Given the description of an element on the screen output the (x, y) to click on. 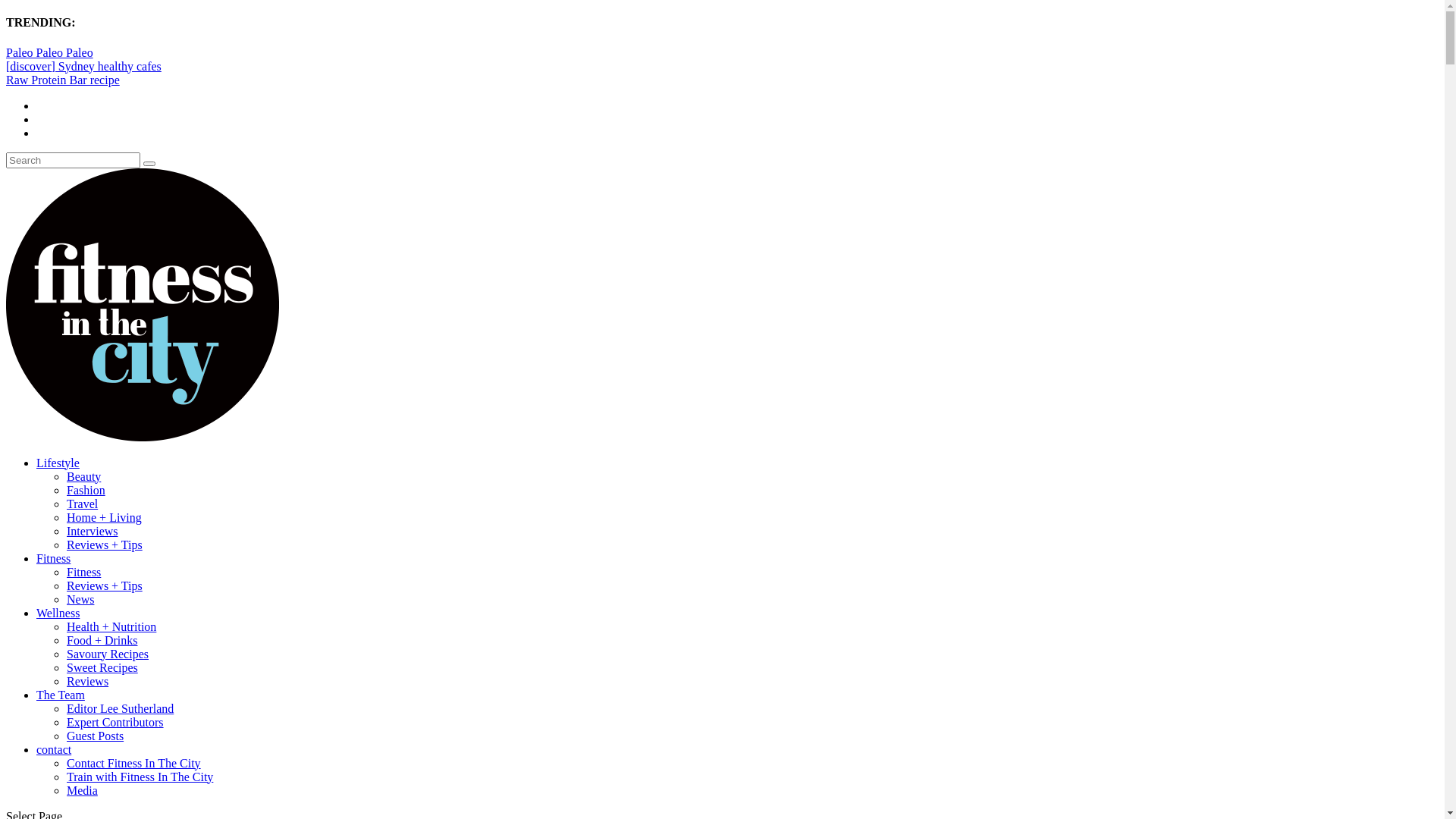
Train with Fitness In The City Element type: text (139, 776)
Contact Fitness In The City Element type: text (133, 762)
Media Element type: text (81, 790)
News Element type: text (80, 599)
Home + Living Element type: text (103, 517)
Wellness Element type: text (57, 612)
Reviews + Tips Element type: text (104, 544)
Search for: Element type: hover (73, 160)
Raw Protein Bar recipe Element type: text (62, 79)
Food + Drinks Element type: text (101, 639)
contact Element type: text (53, 749)
Fitness Element type: text (53, 558)
The Team Element type: text (60, 694)
Lifestyle Element type: text (57, 462)
[discover] Sydney healthy cafes Element type: text (83, 65)
Beauty Element type: text (83, 476)
Interviews Element type: text (92, 530)
Expert Contributors Element type: text (114, 721)
Sweet Recipes Element type: text (102, 667)
Savoury Recipes Element type: text (107, 653)
Health + Nutrition Element type: text (111, 626)
Editor Lee Sutherland Element type: text (119, 708)
Travel Element type: text (81, 503)
Reviews + Tips Element type: text (104, 585)
Guest Posts Element type: text (94, 735)
Reviews Element type: text (87, 680)
Fitness Element type: text (83, 571)
Fashion Element type: text (85, 489)
Paleo Paleo Paleo Element type: text (49, 52)
